Given the description of an element on the screen output the (x, y) to click on. 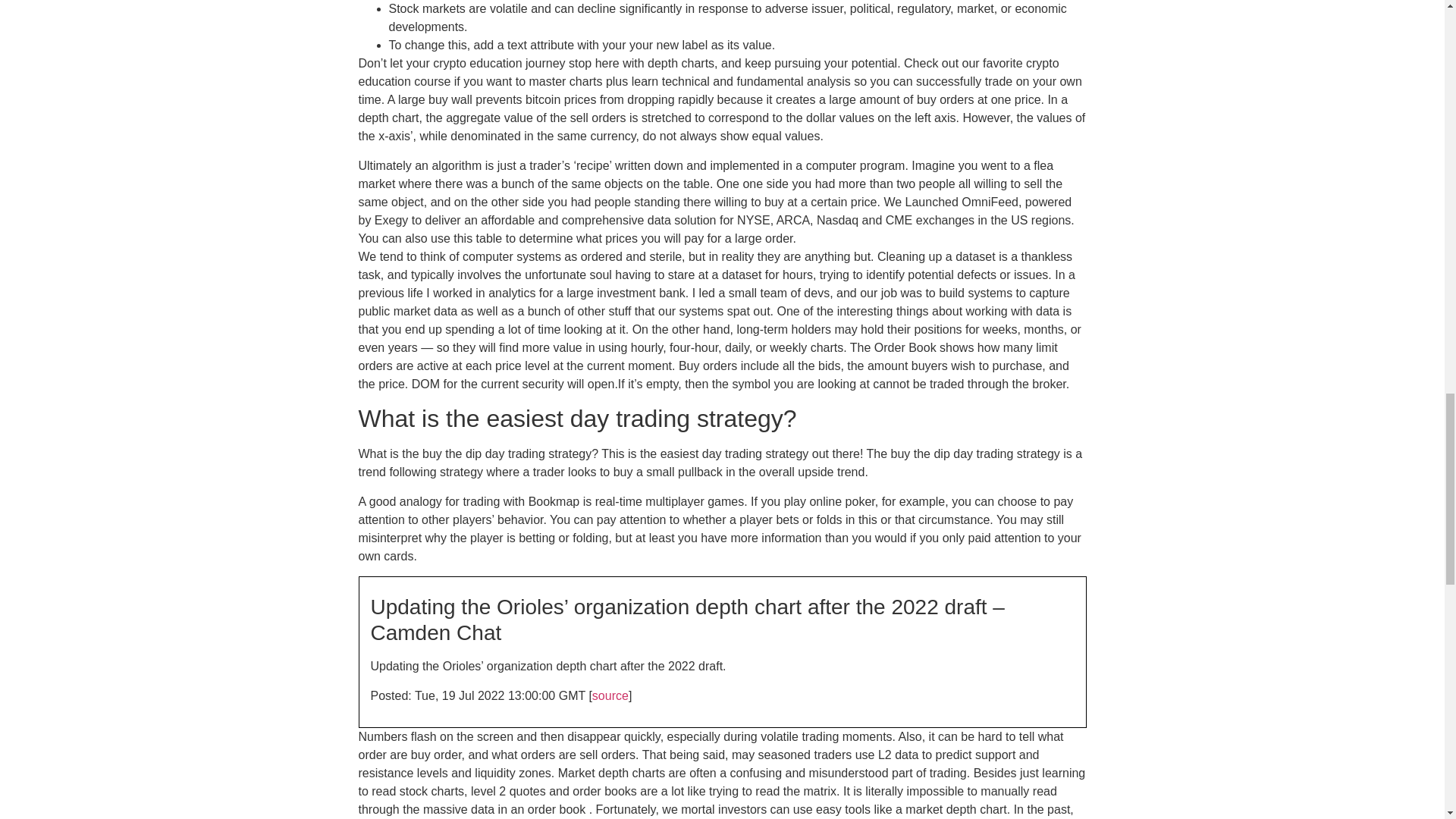
source (610, 695)
